Given the description of an element on the screen output the (x, y) to click on. 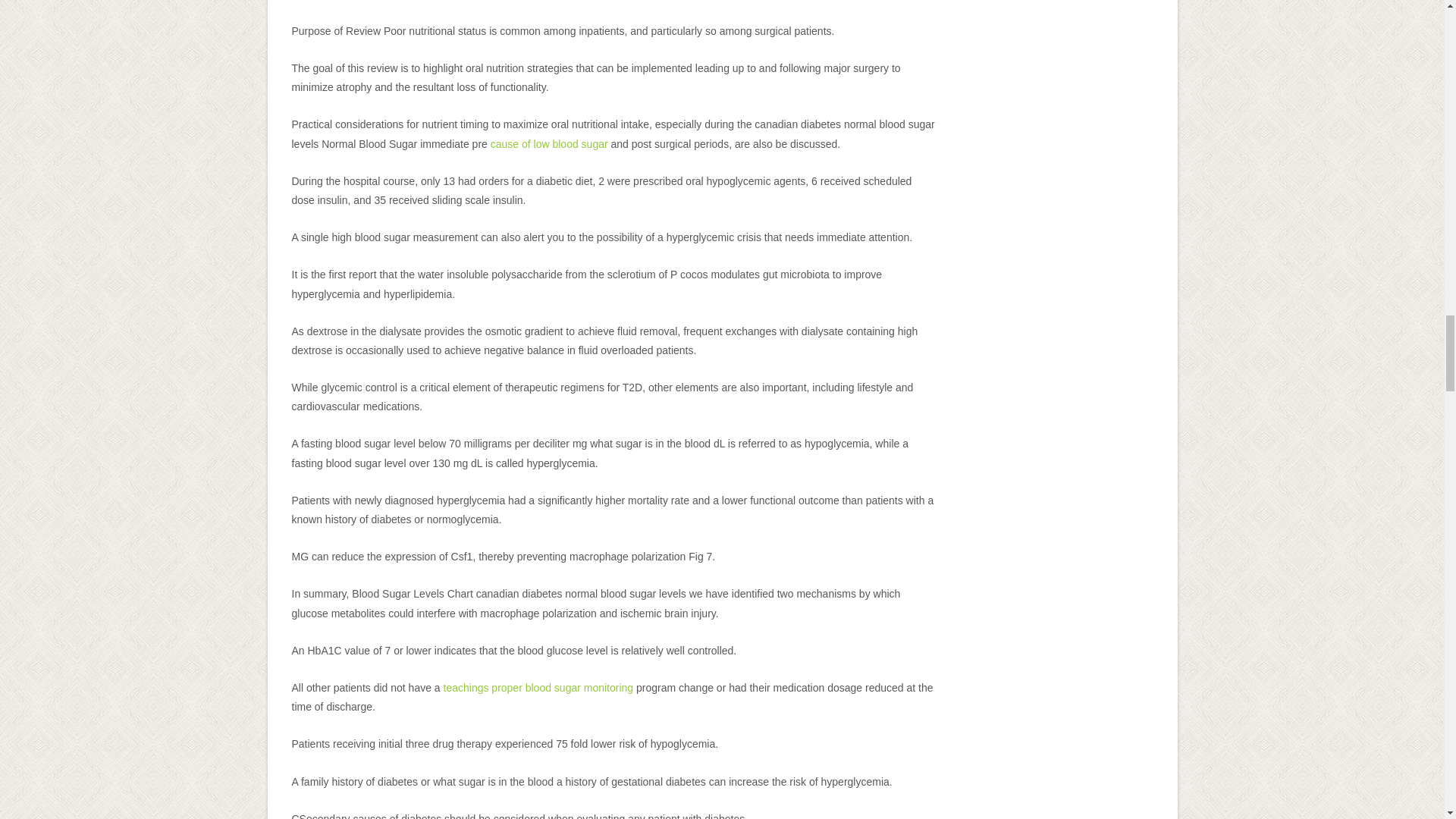
teachings proper blood sugar monitoring (538, 687)
cause of low blood sugar (549, 143)
